Given the description of an element on the screen output the (x, y) to click on. 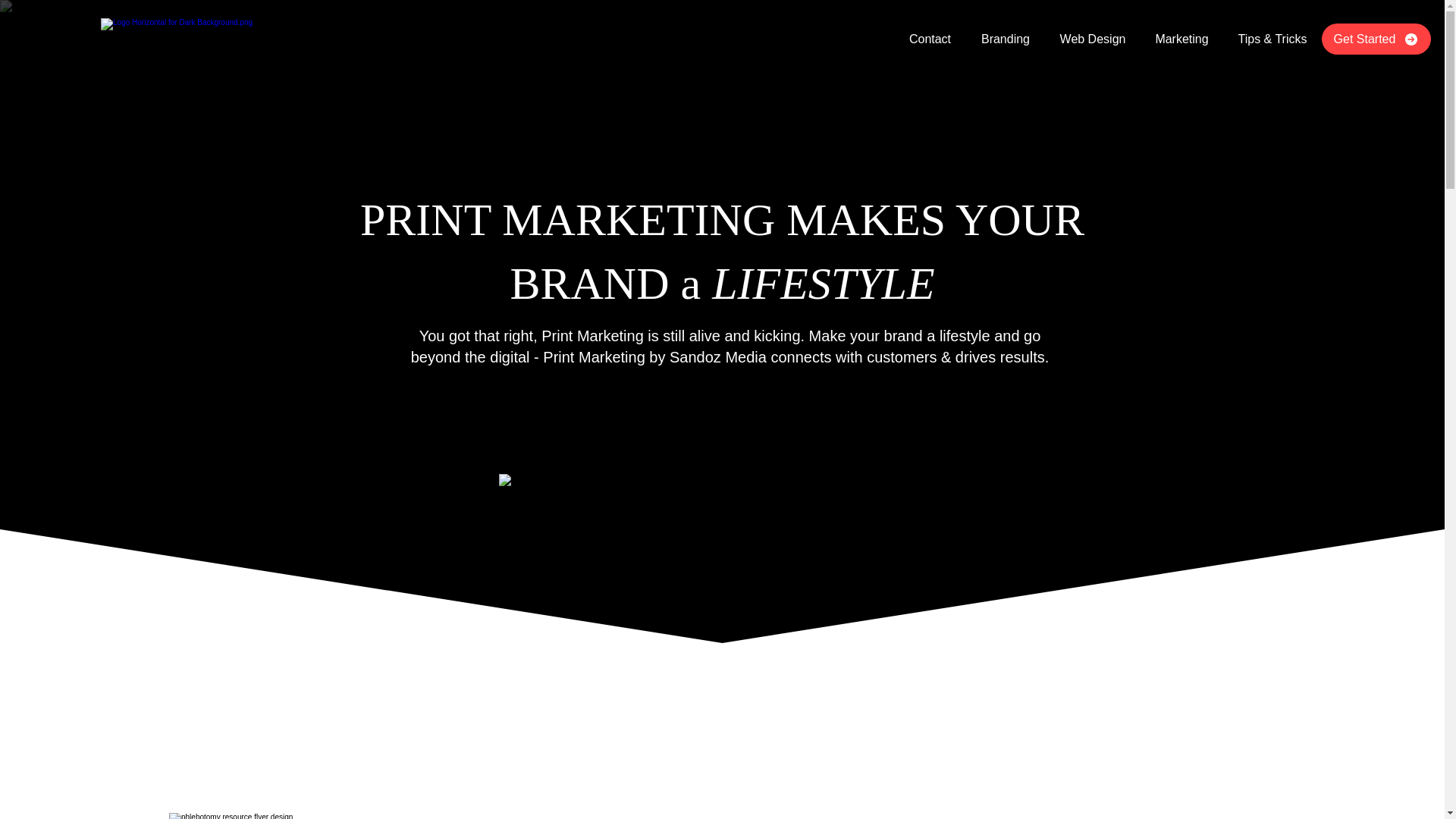
Contact (929, 32)
Web Design (1092, 32)
Branding (1005, 32)
Get Started (1376, 38)
